Given the description of an element on the screen output the (x, y) to click on. 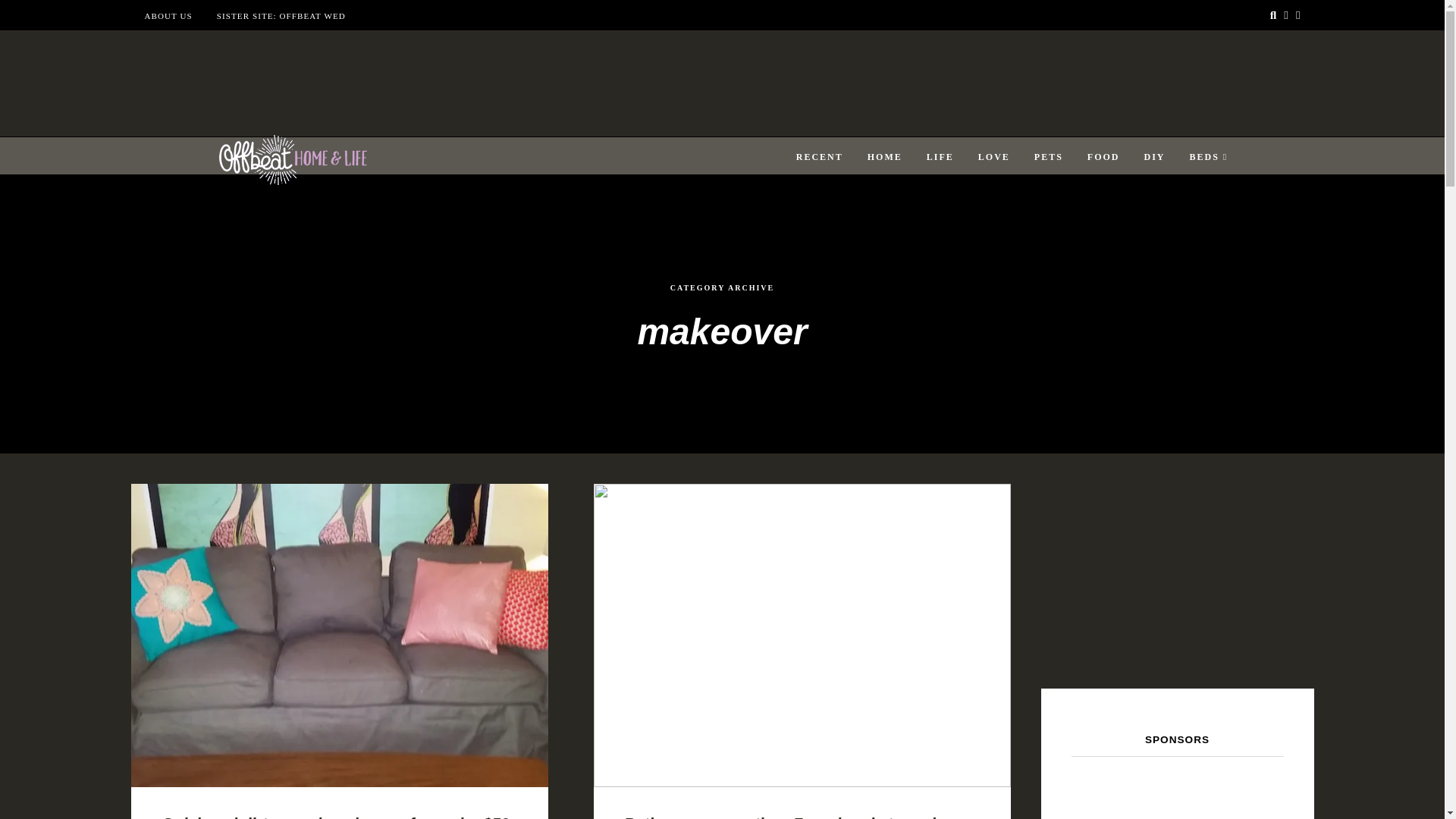
RECENT (819, 157)
ABOUT US (168, 15)
SISTER SITE: OFFBEAT WED (281, 15)
Bathroom renovation: From jungle to under-the-sea (789, 816)
